Given the description of an element on the screen output the (x, y) to click on. 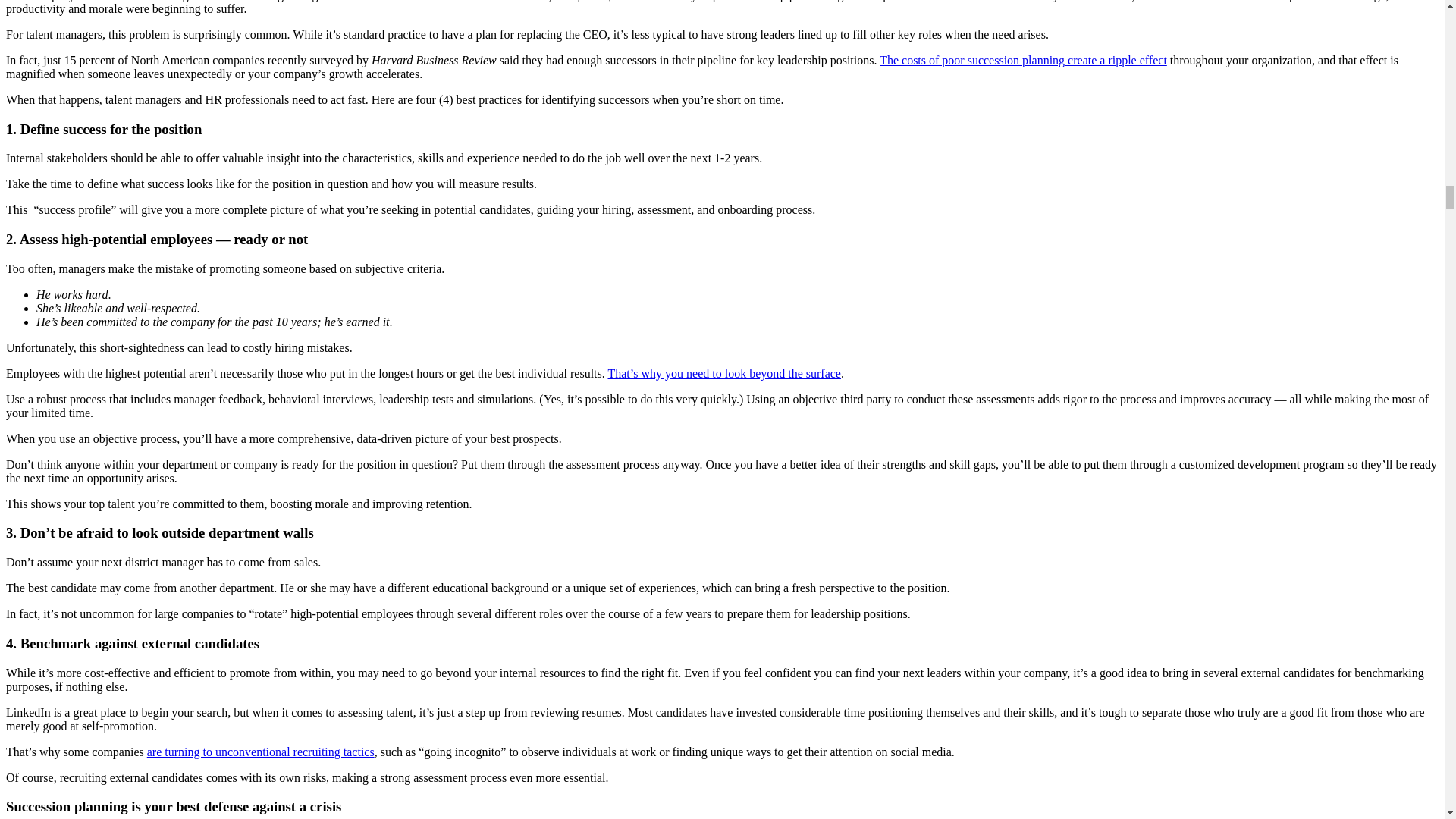
are turning to unconventional recruiting tactics (260, 751)
The costs of poor succession planning create a ripple effect (1023, 60)
